Given the description of an element on the screen output the (x, y) to click on. 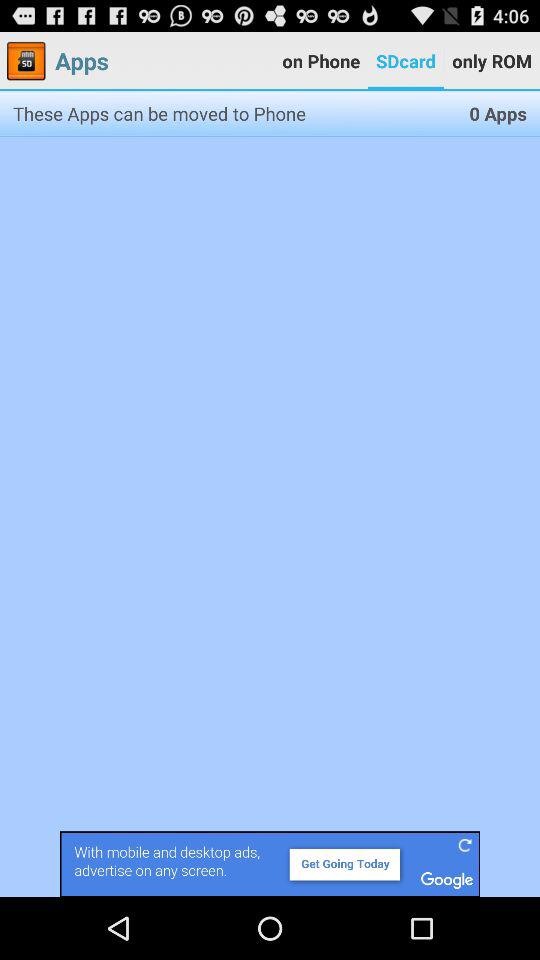
click on only rom above 0 apps (491, 61)
select on phone next to sdcard (320, 61)
click on sdcard which is at top of the page (405, 61)
